Given the description of an element on the screen output the (x, y) to click on. 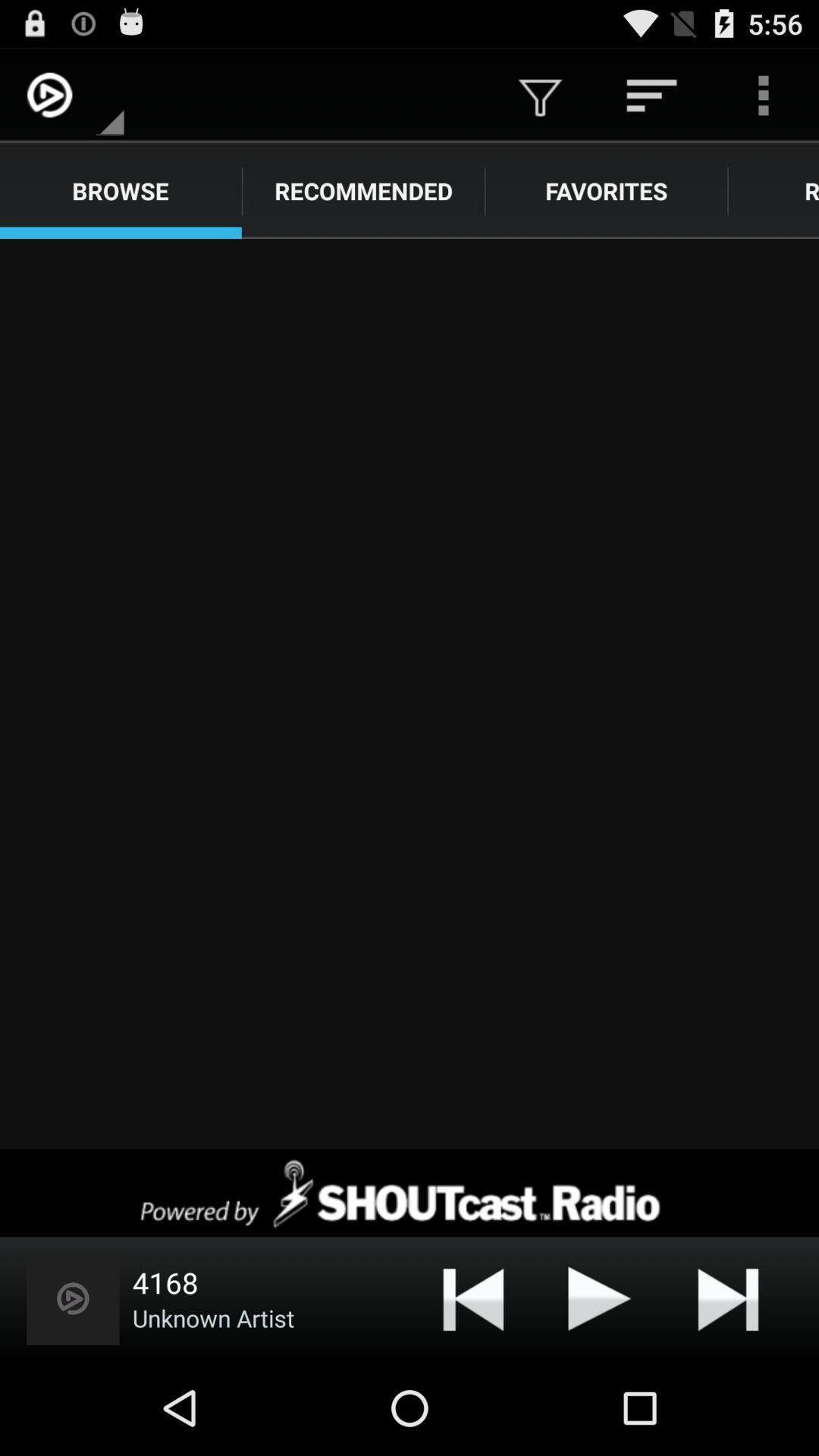
launch icon to the right of unknown artist item (472, 1298)
